Given the description of an element on the screen output the (x, y) to click on. 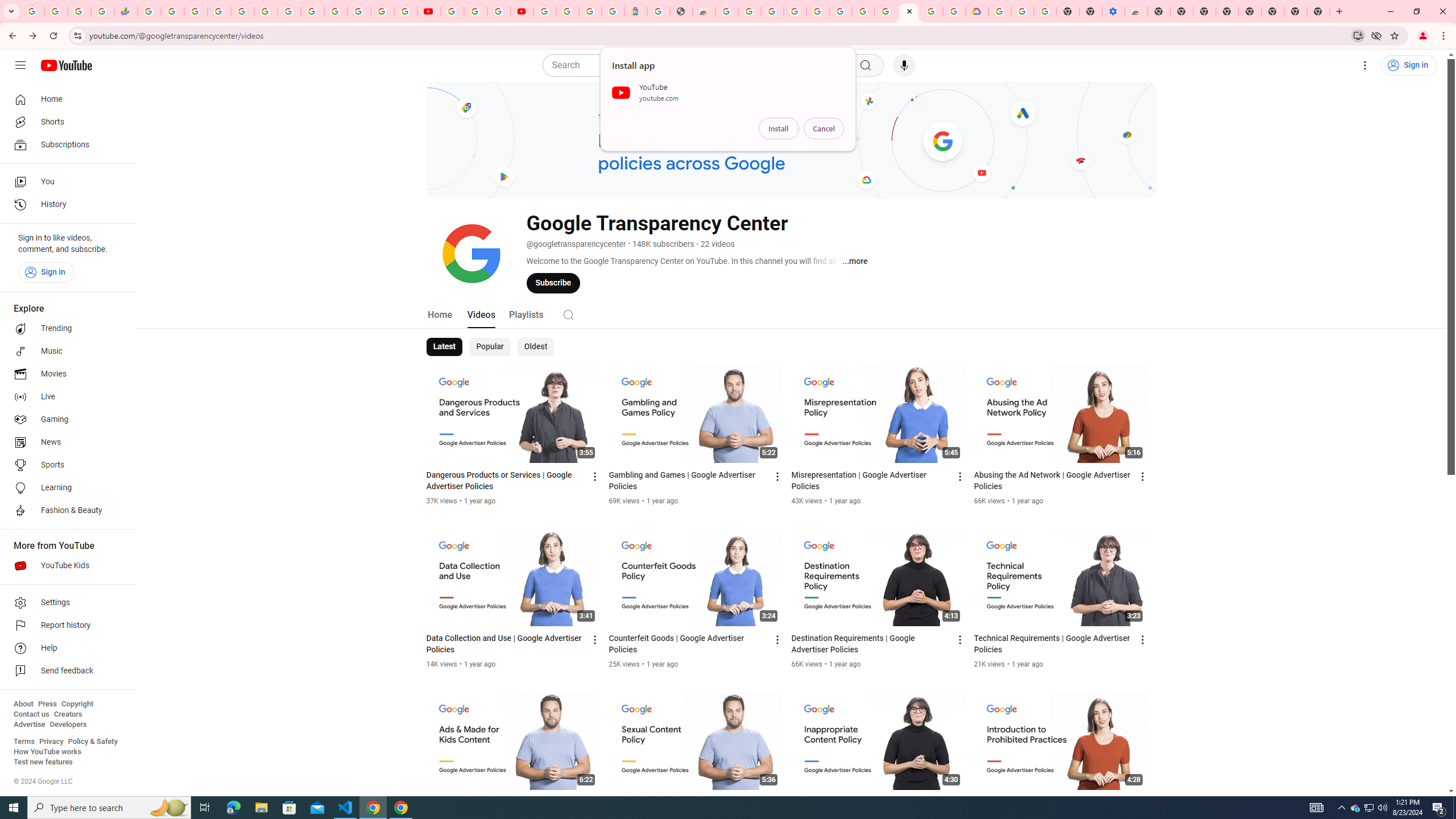
News (64, 441)
Sign in - Google Accounts (999, 11)
Turn cookies on or off - Computer - Google Account Help (1045, 11)
Settings (64, 602)
Advertise (29, 724)
Action menu (1142, 802)
Live (64, 396)
Shorts (64, 121)
Chrome Web Store - Household (703, 11)
Cancel (823, 128)
